Given the description of an element on the screen output the (x, y) to click on. 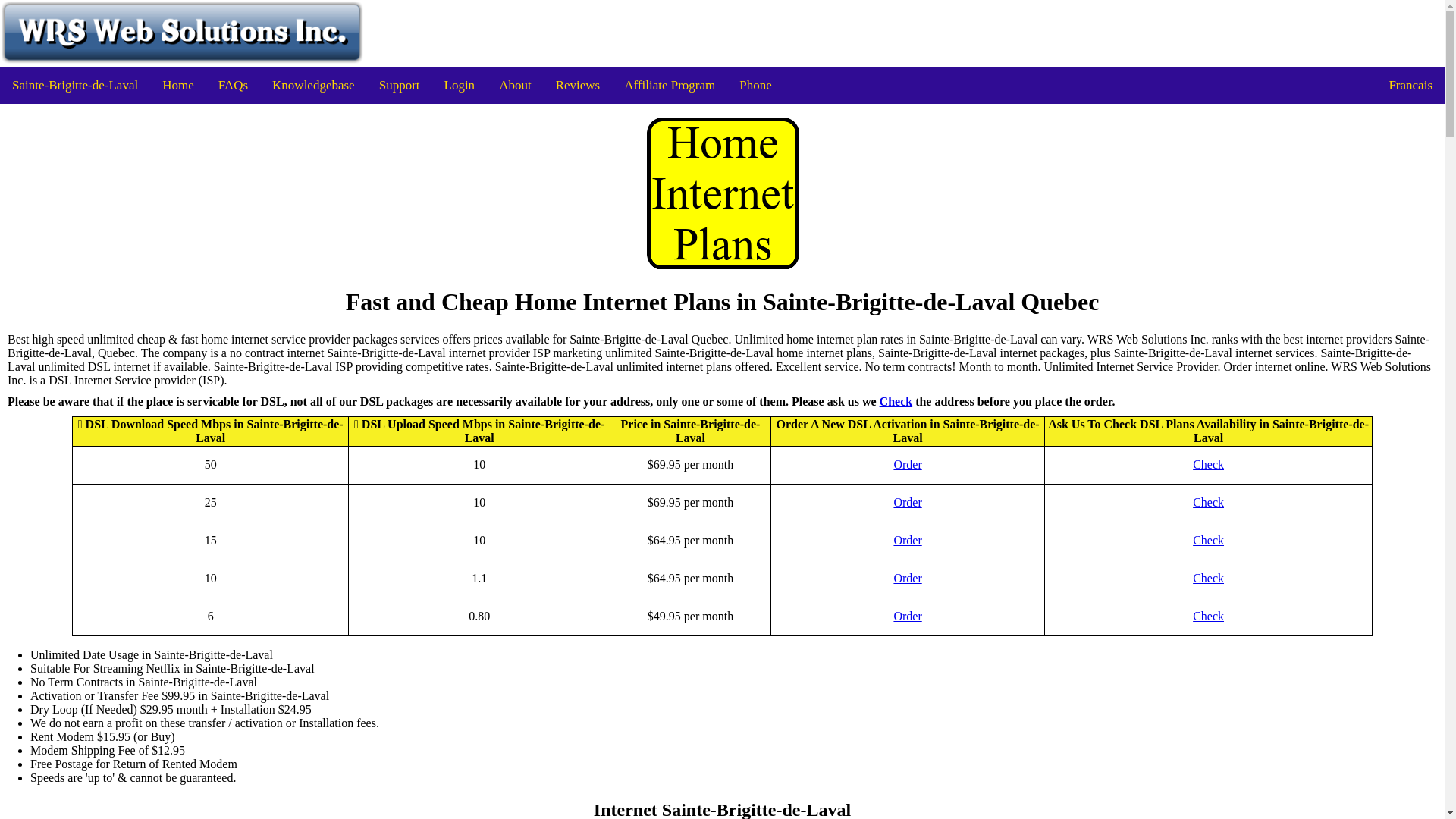
Knowledgebase (313, 85)
Home (177, 85)
FAQs (233, 85)
Order (907, 616)
Reviews (577, 85)
Check (1208, 578)
Check (1208, 616)
Order (907, 578)
Affiliate Program (668, 85)
Support (399, 85)
